Given the description of an element on the screen output the (x, y) to click on. 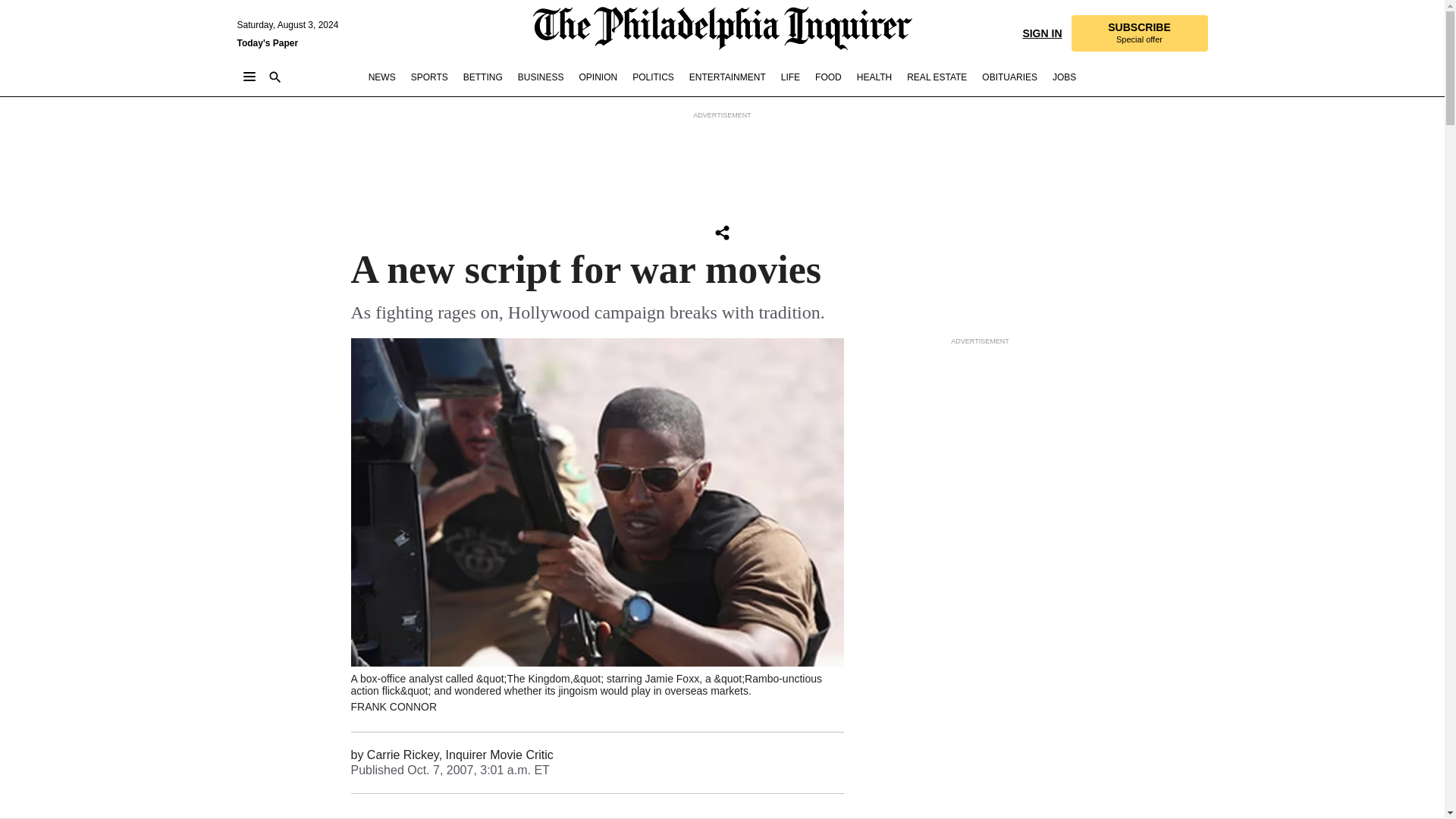
HEALTH (874, 77)
LIFE (789, 77)
SIGN IN (1041, 32)
BUSINESS (541, 77)
NEWS (382, 77)
OPINION (1138, 33)
JOBS (597, 77)
SPORTS (1063, 77)
BETTING (429, 77)
REAL ESTATE (482, 77)
Today's Paper (936, 77)
Share Icon (266, 42)
OBITUARIES (721, 232)
FOOD (1008, 77)
